Given the description of an element on the screen output the (x, y) to click on. 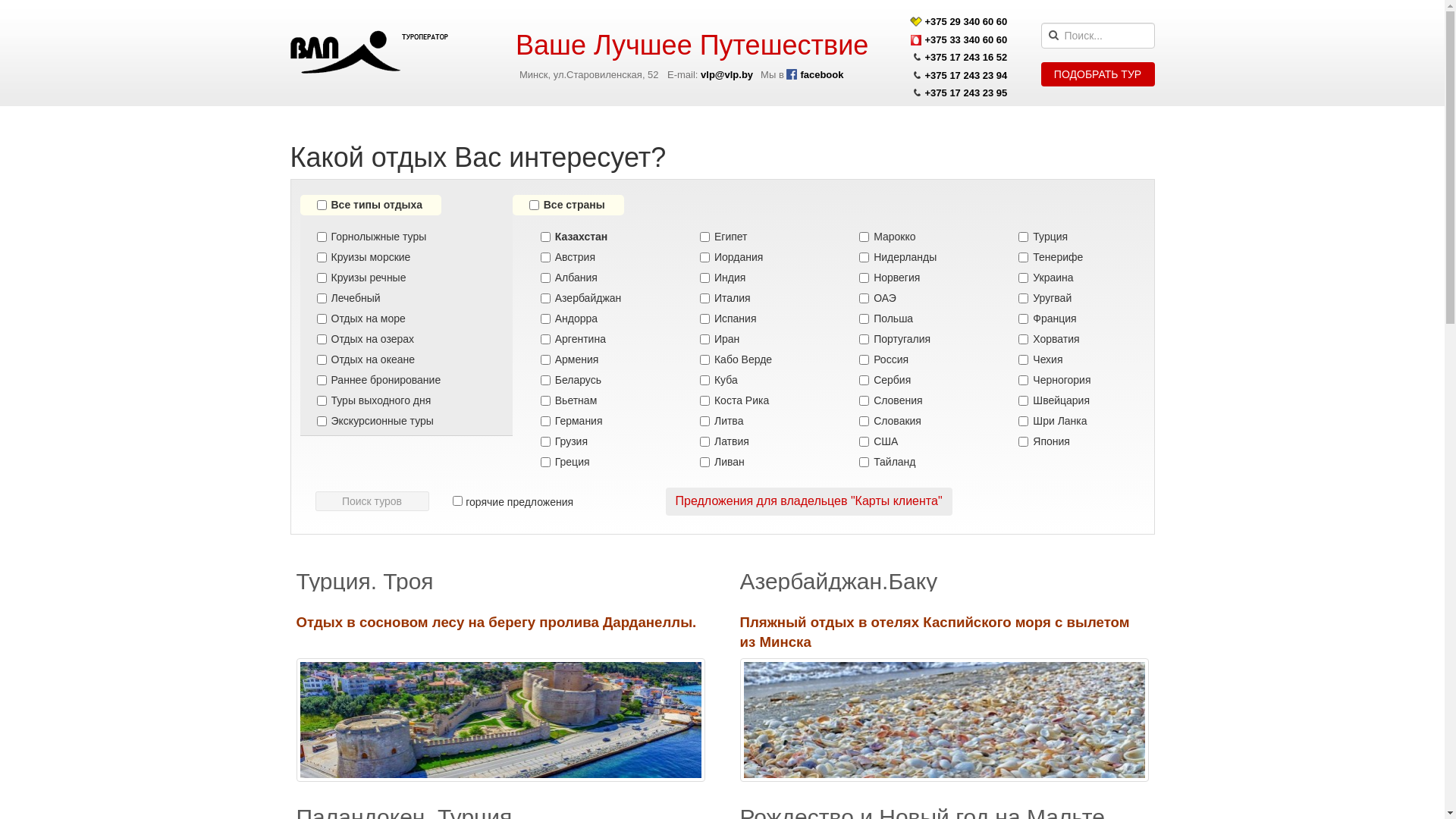
+375 33 340 60 60 Element type: text (966, 39)
facebook Element type: text (814, 74)
+375 29 340 60 60 Element type: text (966, 21)
vlp@vlp.by Element type: text (726, 74)
+375 17 243 23 94 Element type: text (966, 75)
+375 17 243 23 95 Element type: text (966, 92)
+375 17 243 16 52 Element type: text (966, 56)
